Given the description of an element on the screen output the (x, y) to click on. 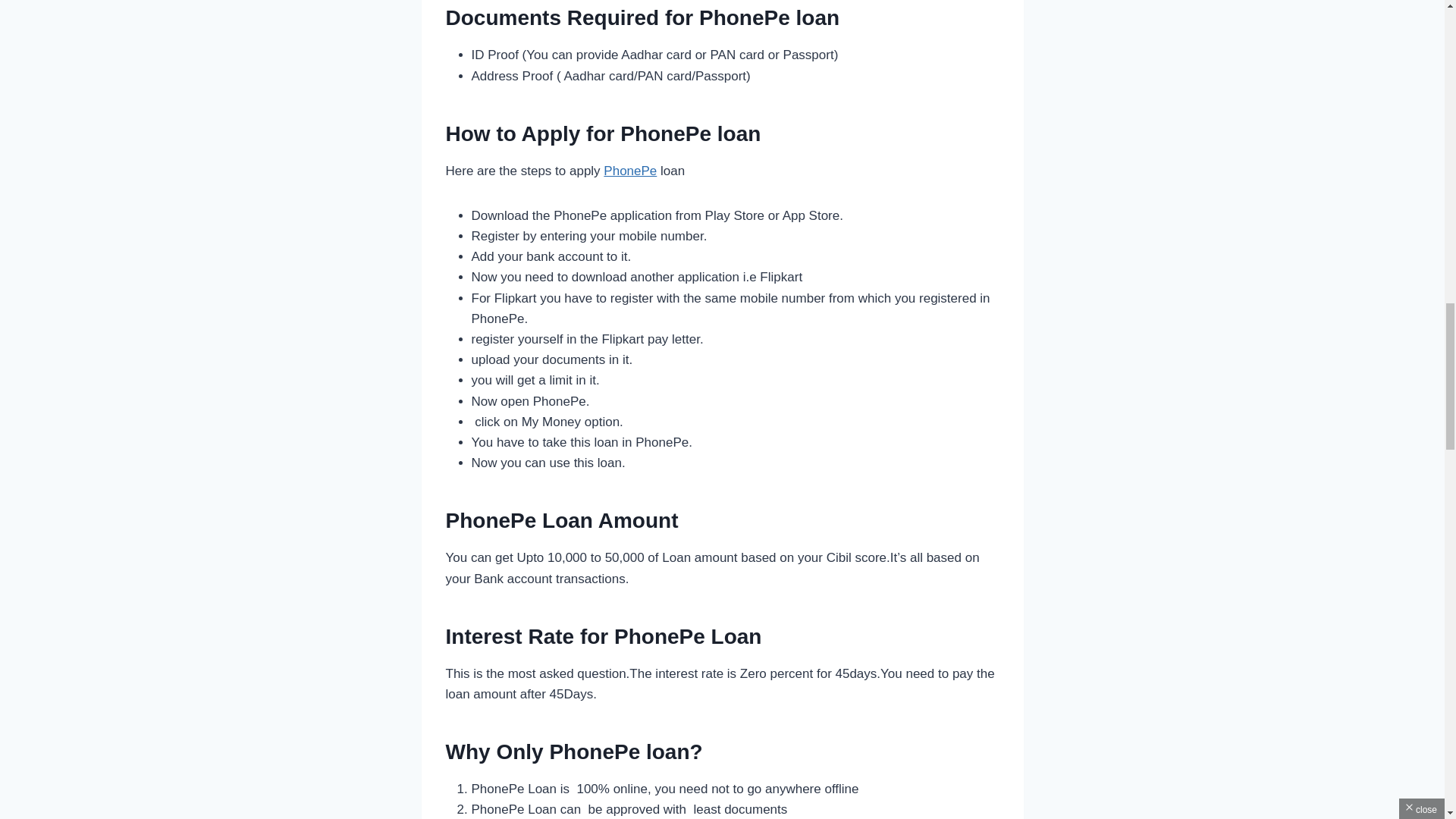
PhonePe (630, 170)
